Given the description of an element on the screen output the (x, y) to click on. 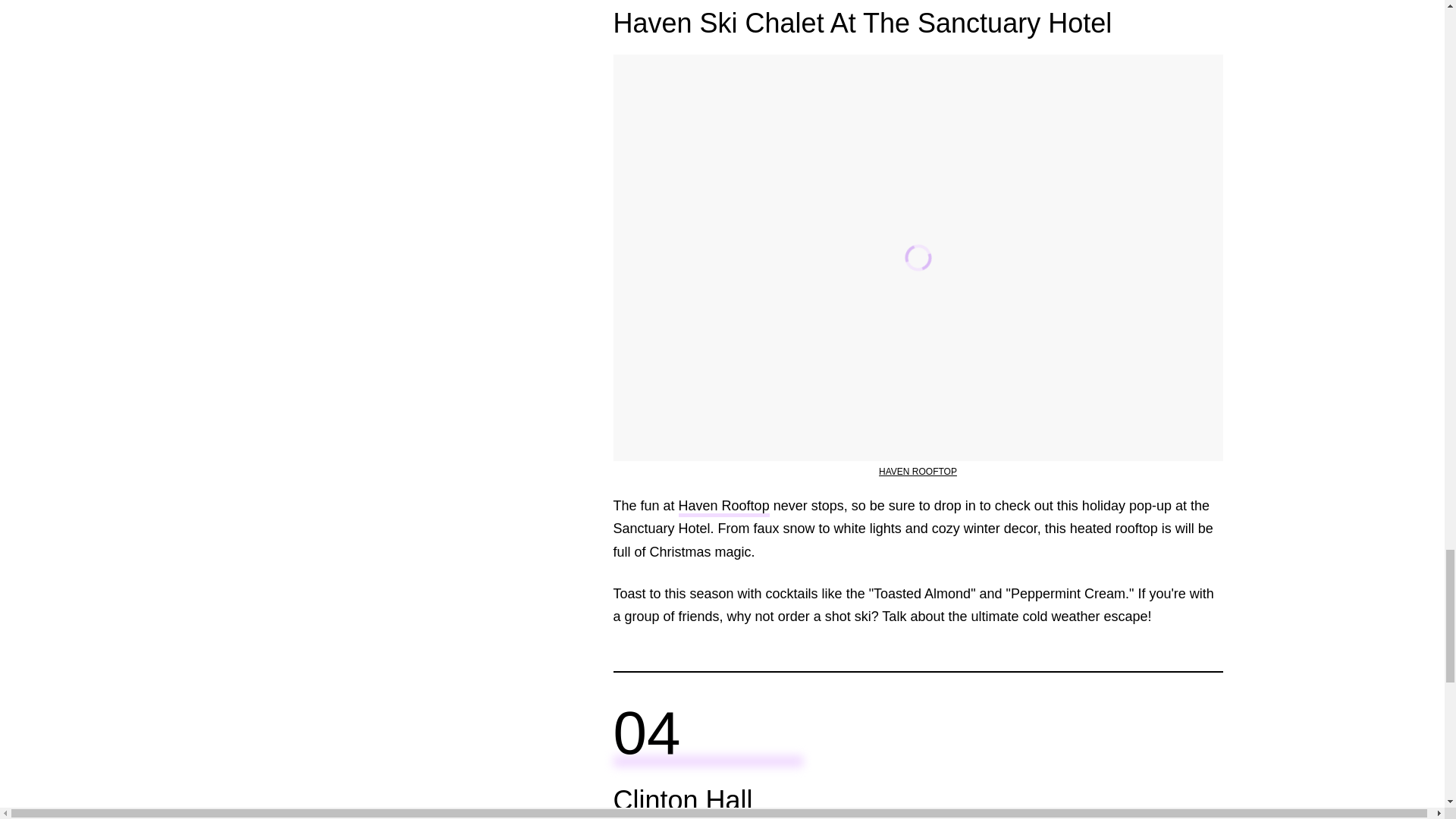
HAVEN ROOFTOP (917, 471)
Haven Rooftop (724, 506)
